Given the description of an element on the screen output the (x, y) to click on. 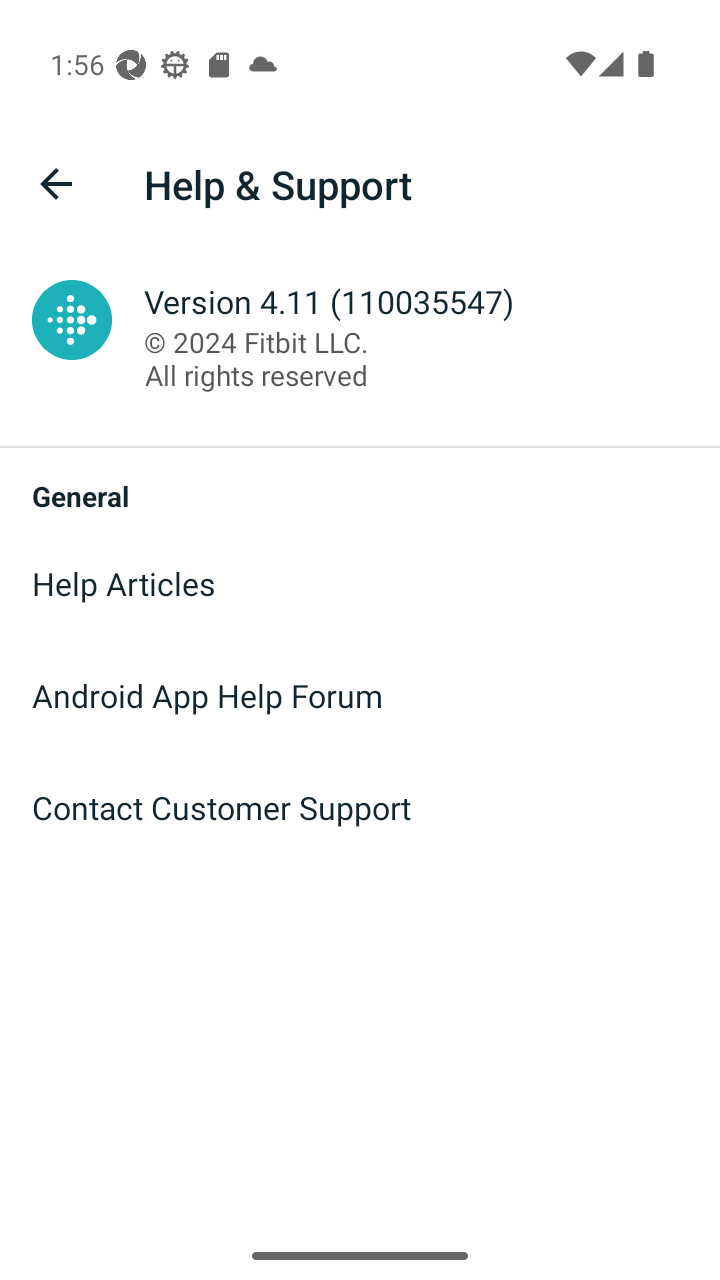
Navigate up (56, 184)
Help Articles (360, 583)
Android App Help Forum (360, 696)
Contact Customer Support (360, 808)
